Given the description of an element on the screen output the (x, y) to click on. 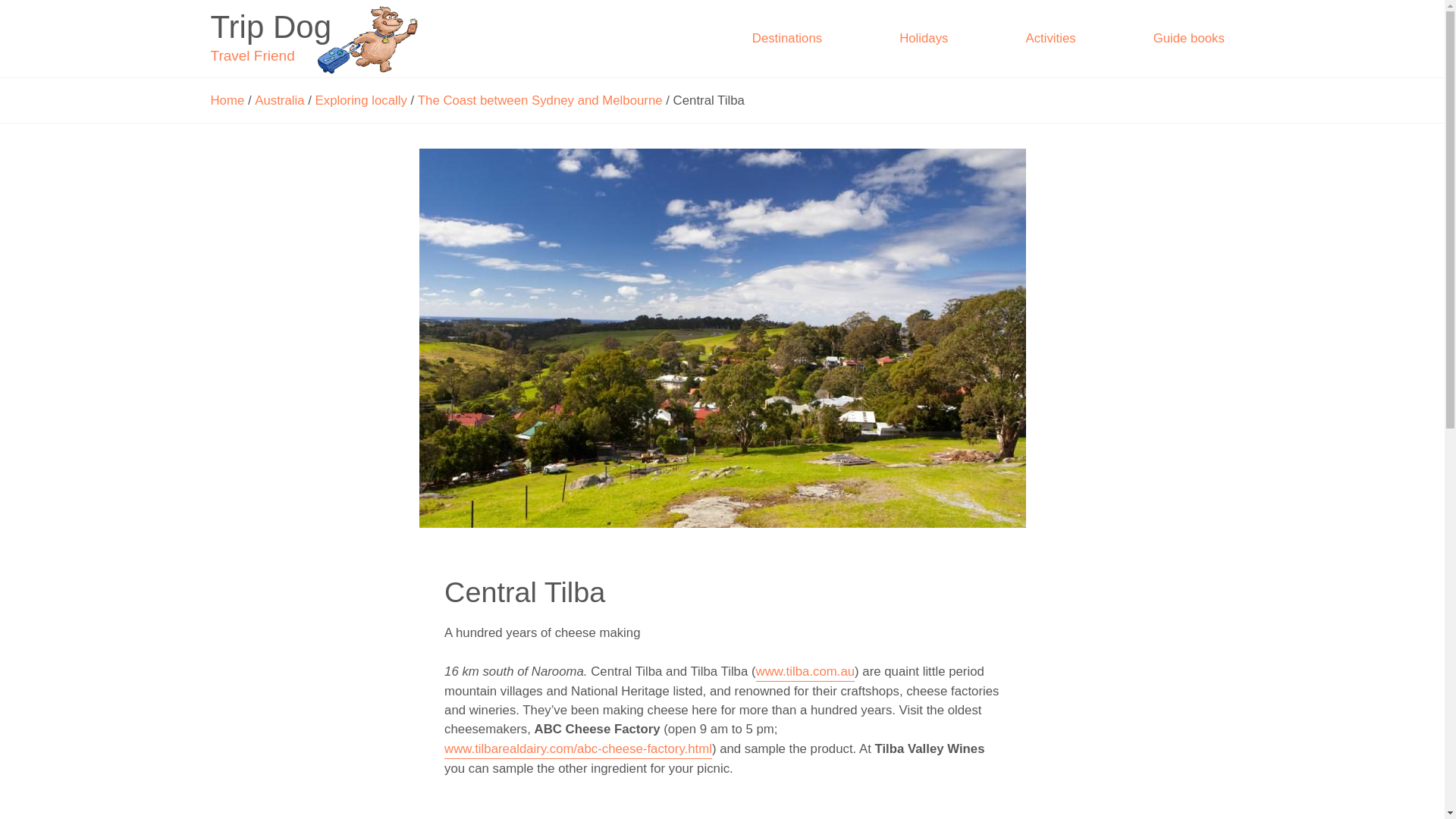
Destinations (786, 37)
Holidays (923, 37)
Activities (1050, 37)
Trip Dog - Travel Friend (317, 37)
Home (317, 37)
Guide books (227, 99)
Exploring locally (1187, 37)
The Coast between Sydney and Melbourne (361, 99)
www.tilba.com.au (539, 99)
